Given the description of an element on the screen output the (x, y) to click on. 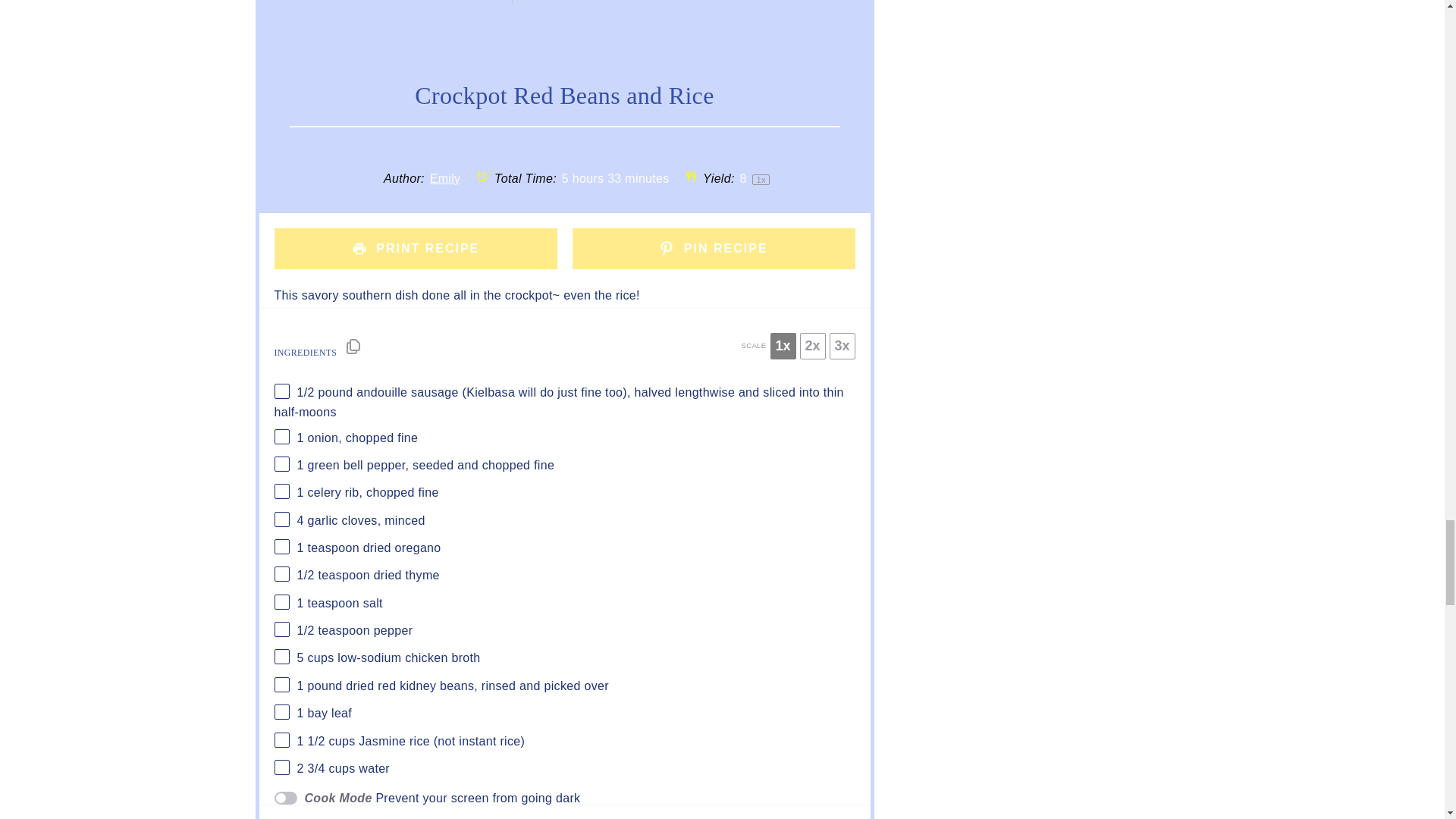
Copy to clipboard Copy to clipboard (352, 346)
